Given the description of an element on the screen output the (x, y) to click on. 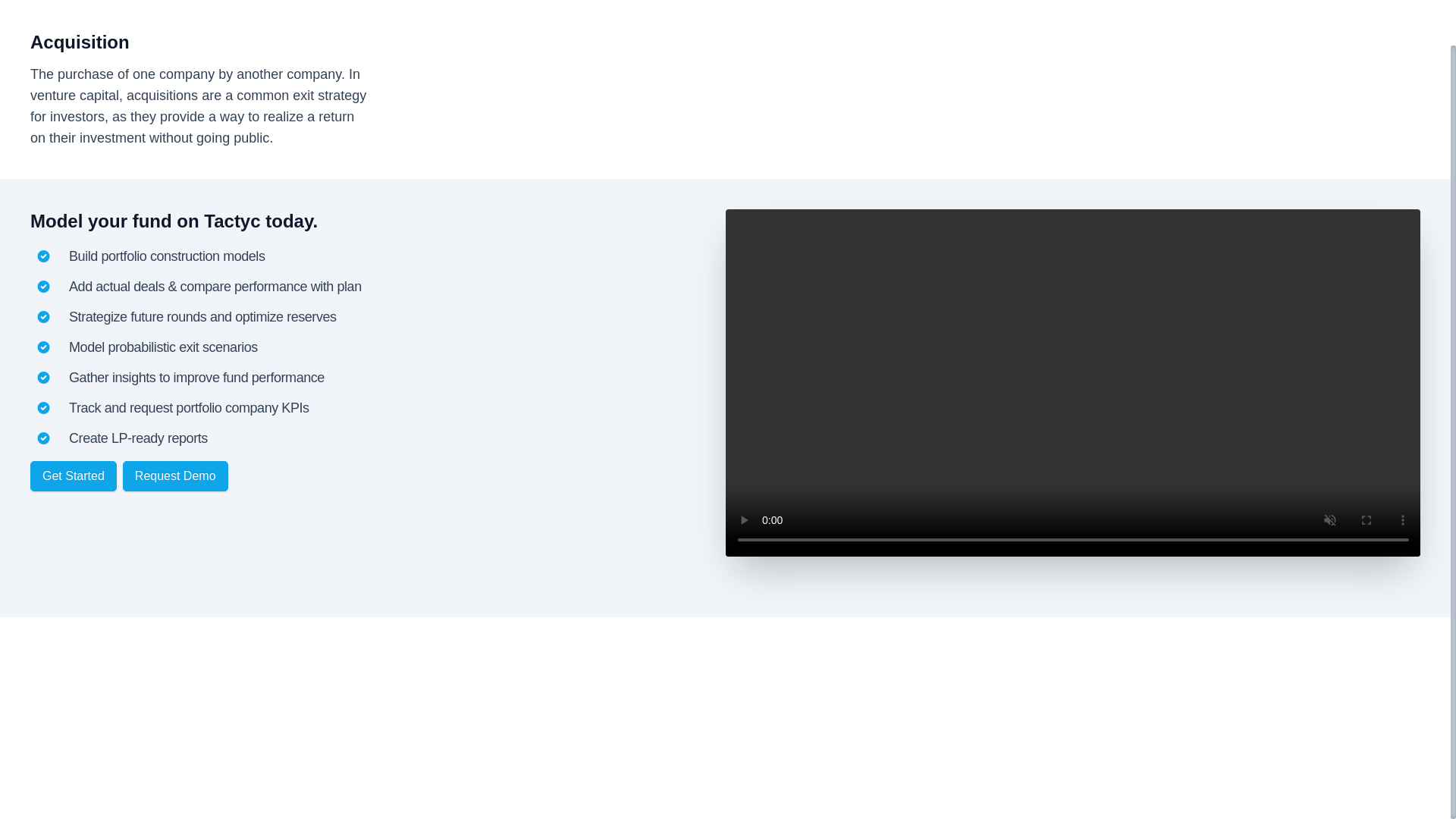
Request Demo (175, 476)
Get Started (73, 476)
